Given the description of an element on the screen output the (x, y) to click on. 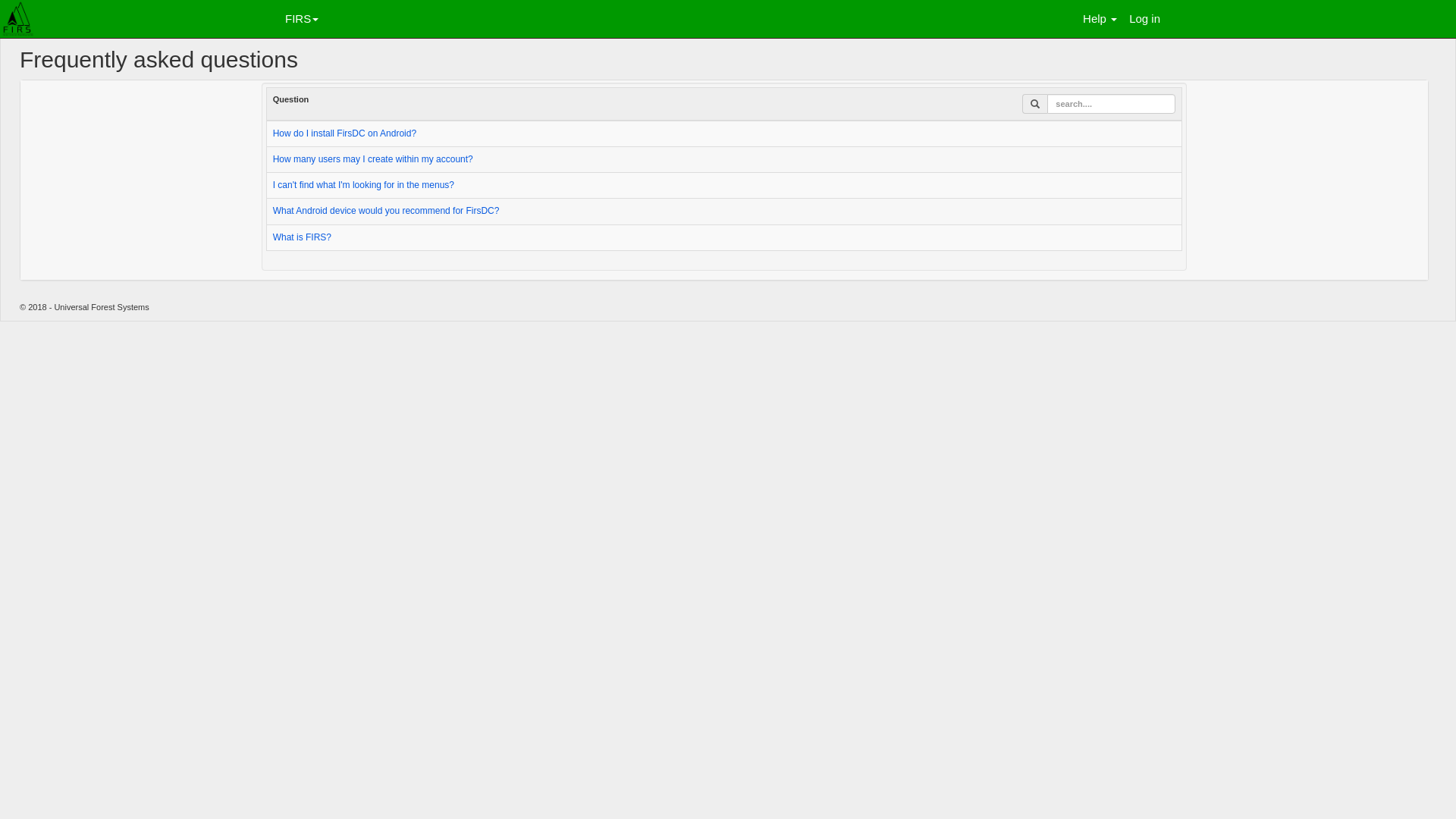
How many users may I create within my account? Element type: text (373, 159)
Log in Element type: text (1149, 18)
I can't find what I'm looking for in the menus? Element type: text (363, 184)
Help Element type: text (1105, 18)
FIRS Element type: text (306, 18)
What is FIRS? Element type: text (302, 237)
What Android device would you recommend for FirsDC? Element type: text (386, 210)
How do I install FirsDC on Android? Element type: text (344, 133)
